Given the description of an element on the screen output the (x, y) to click on. 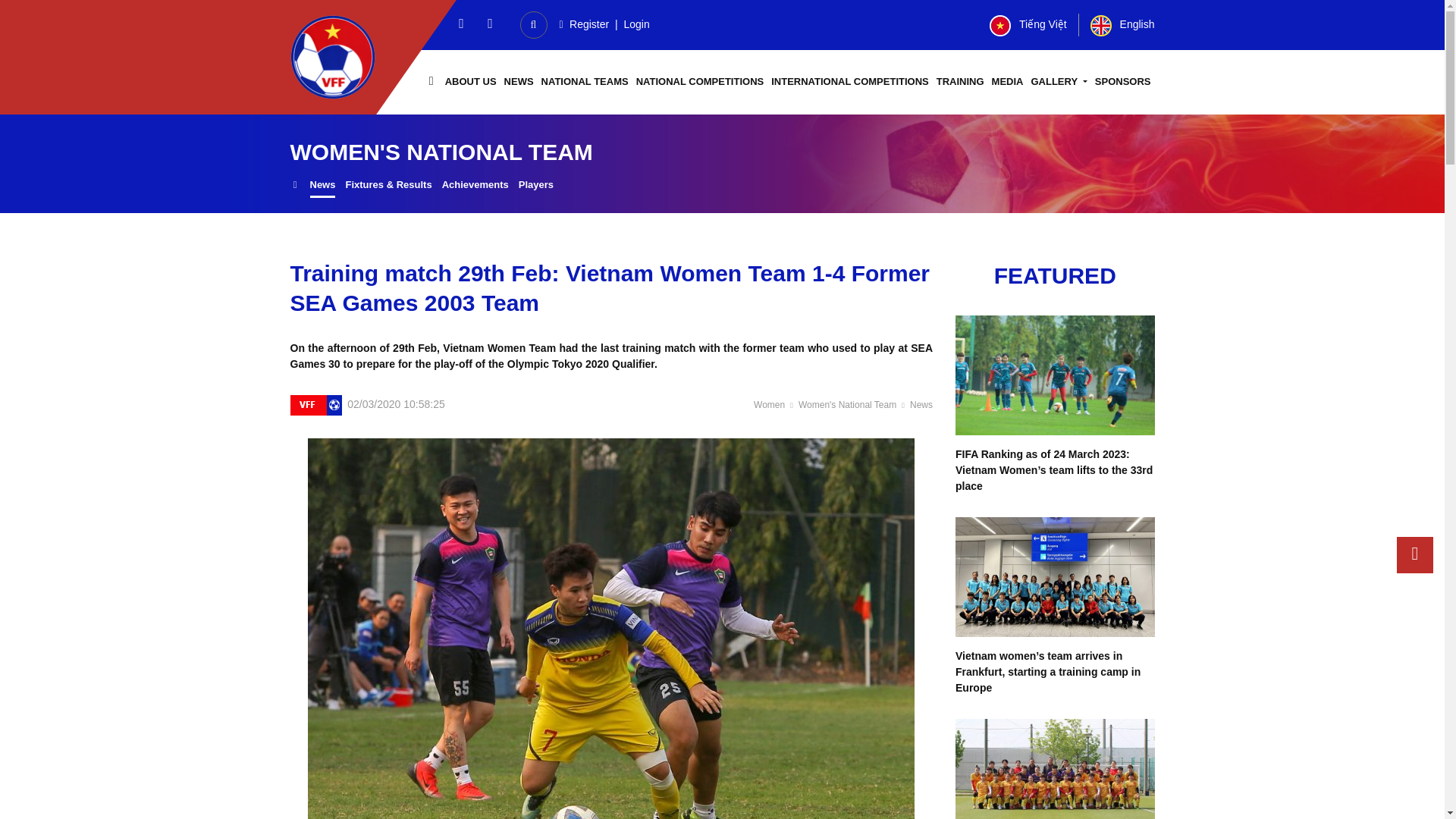
Achievements (475, 186)
About Us (470, 81)
English (1122, 24)
Sponsors (1122, 81)
INTERNATIONAL COMPETITIONS (850, 81)
News (518, 81)
News (321, 186)
TRAINING (960, 81)
ABOUT US (470, 81)
Register (582, 24)
